Given the description of an element on the screen output the (x, y) to click on. 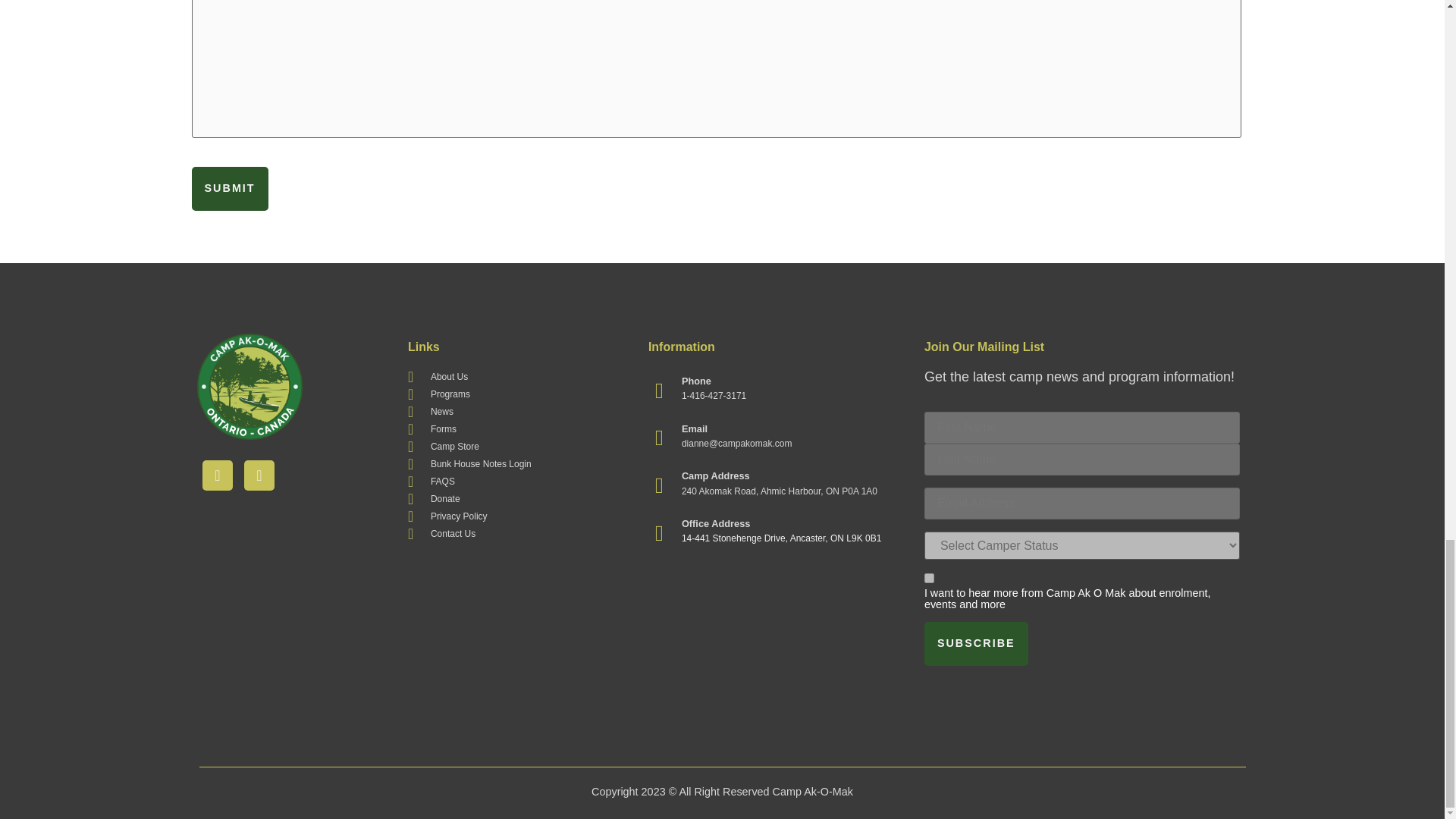
Phone (696, 380)
Donate (516, 498)
About Us (516, 376)
Programs (516, 394)
FAQS (516, 481)
Camp Store (516, 446)
News (516, 411)
Submit (228, 188)
Subscribe (975, 643)
Submit (228, 188)
Contact Us (516, 533)
Privacy Policy (516, 516)
Forms (516, 428)
Bunk House Notes Login (516, 463)
